Given the description of an element on the screen output the (x, y) to click on. 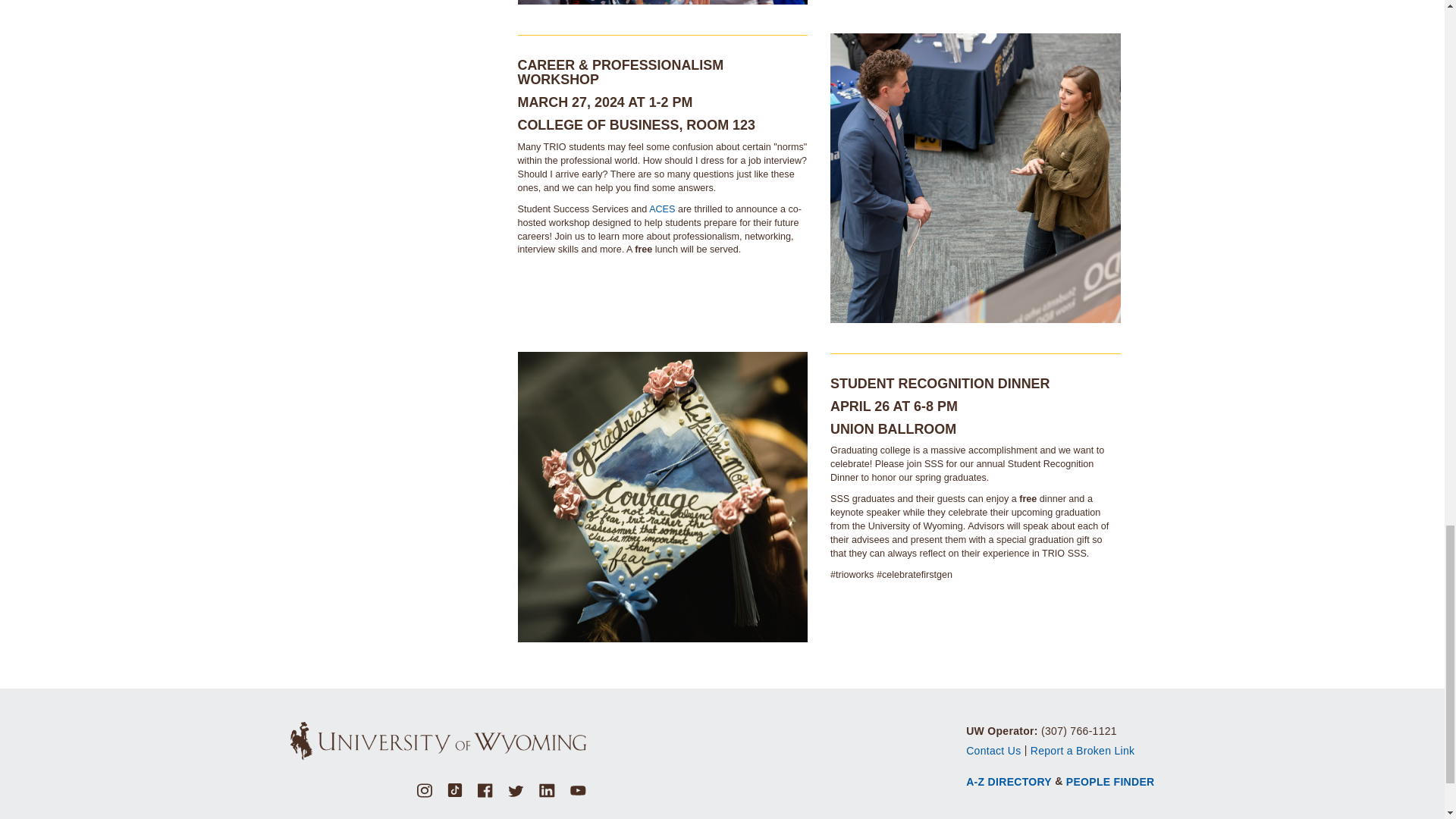
End of Semester Brunch (662, 497)
First Generation Day (975, 178)
Financial Literacy (662, 2)
